Given the description of an element on the screen output the (x, y) to click on. 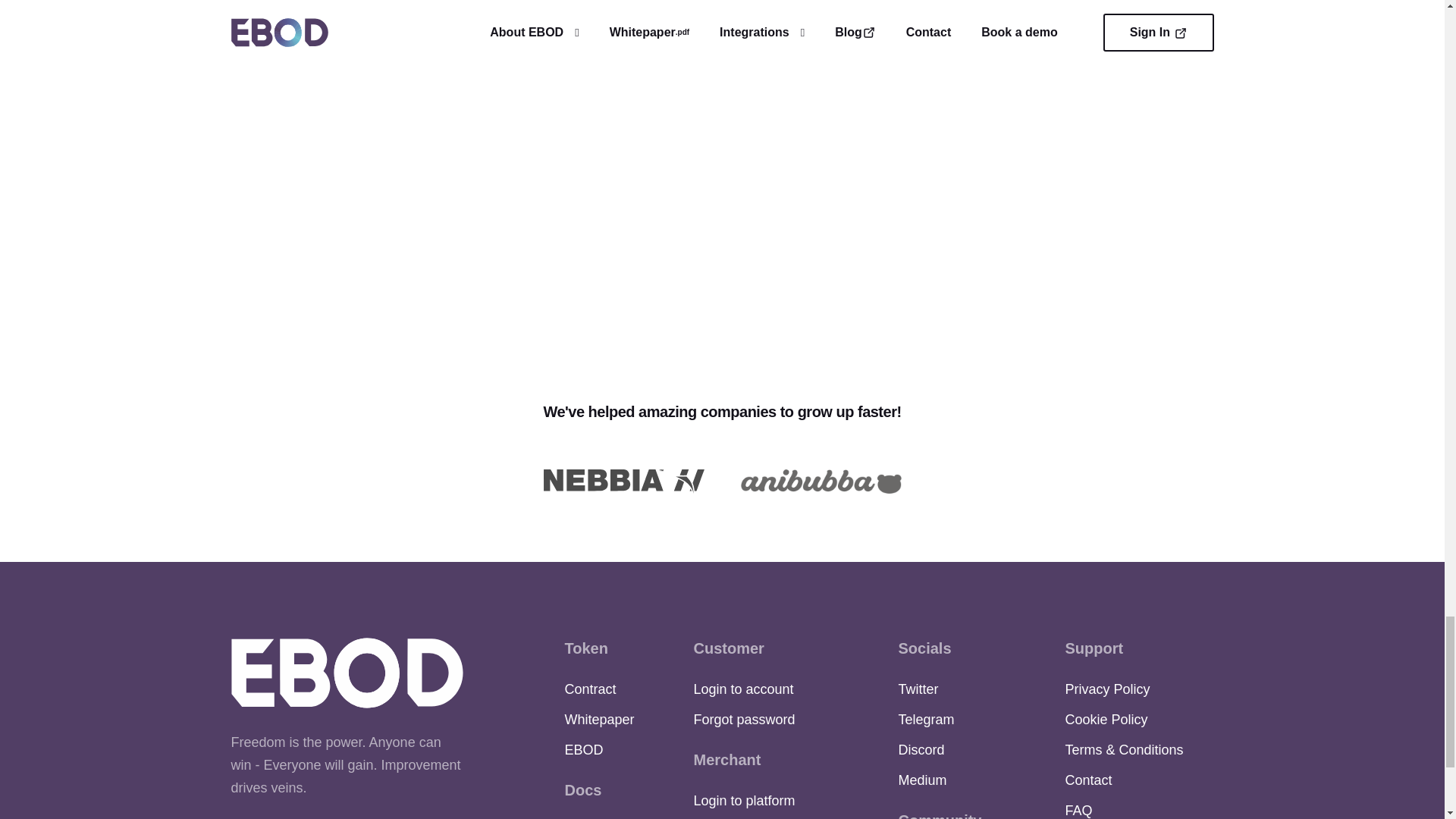
Login to account (743, 688)
EBOD (583, 749)
Forgot password (743, 719)
Login to platform (743, 800)
Whitepaper (598, 719)
Medium (922, 780)
Twitter (917, 688)
Telegram (925, 719)
Discord (920, 749)
Contract (589, 688)
